Given the description of an element on the screen output the (x, y) to click on. 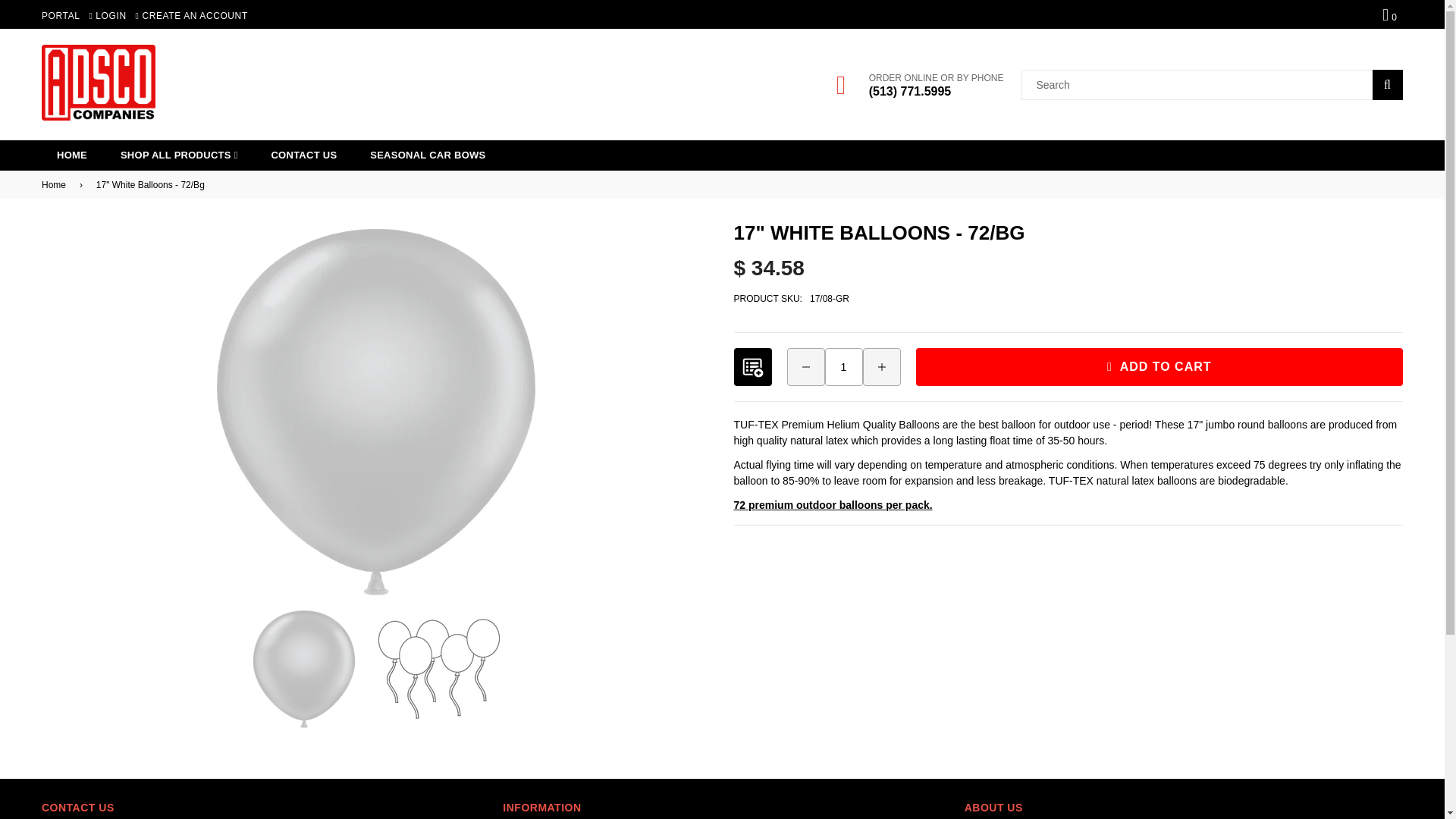
HOME (71, 155)
Quantity (844, 366)
CREATE AN ACCOUNT (191, 15)
SHOP ALL PRODUCTS (178, 155)
0 (1390, 14)
LOGIN (106, 15)
SEASONAL CAR BOWS (427, 155)
PORTAL (61, 15)
Back to the home page (56, 184)
1 (844, 366)
